Given the description of an element on the screen output the (x, y) to click on. 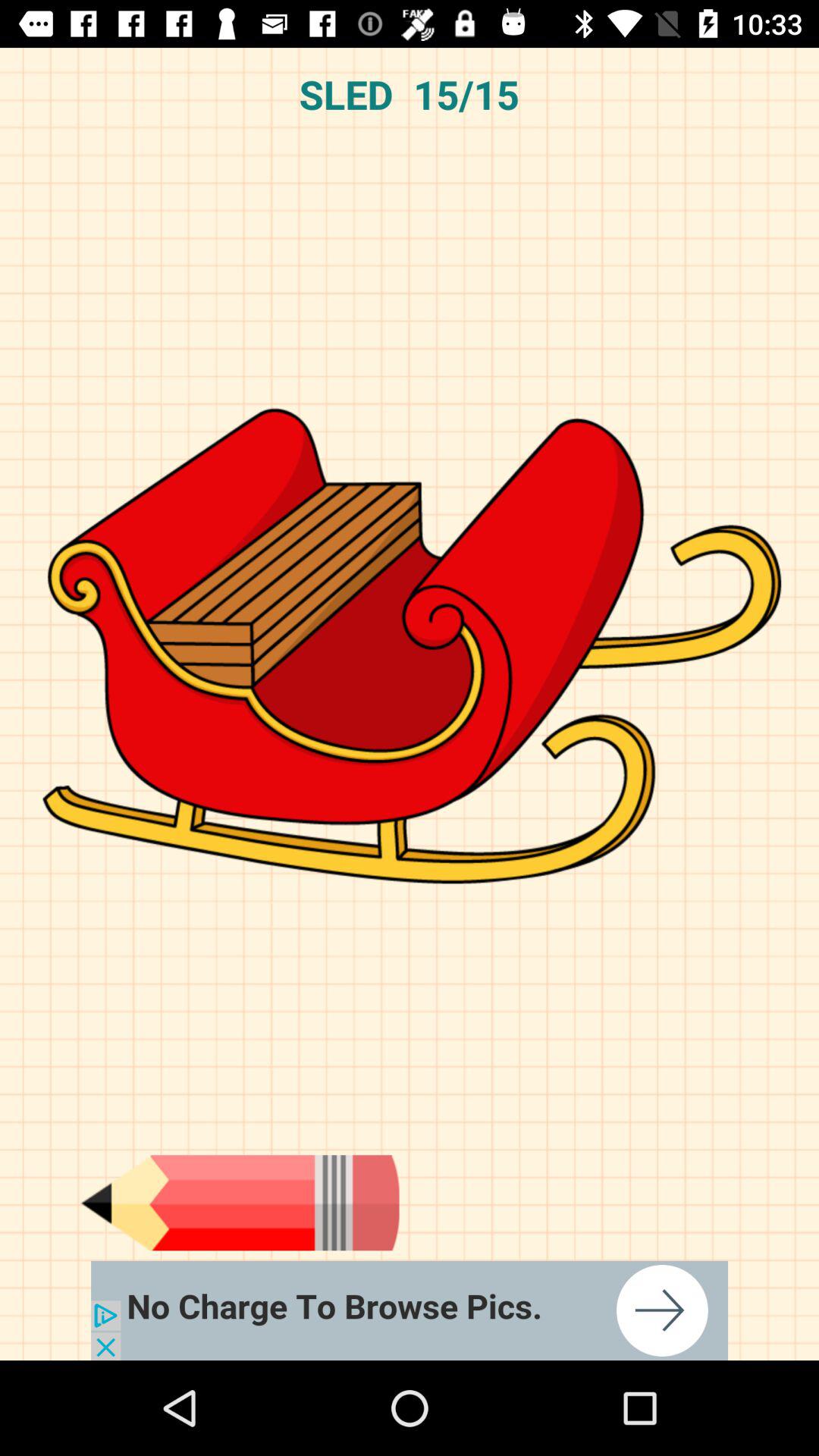
next button (409, 1310)
